Given the description of an element on the screen output the (x, y) to click on. 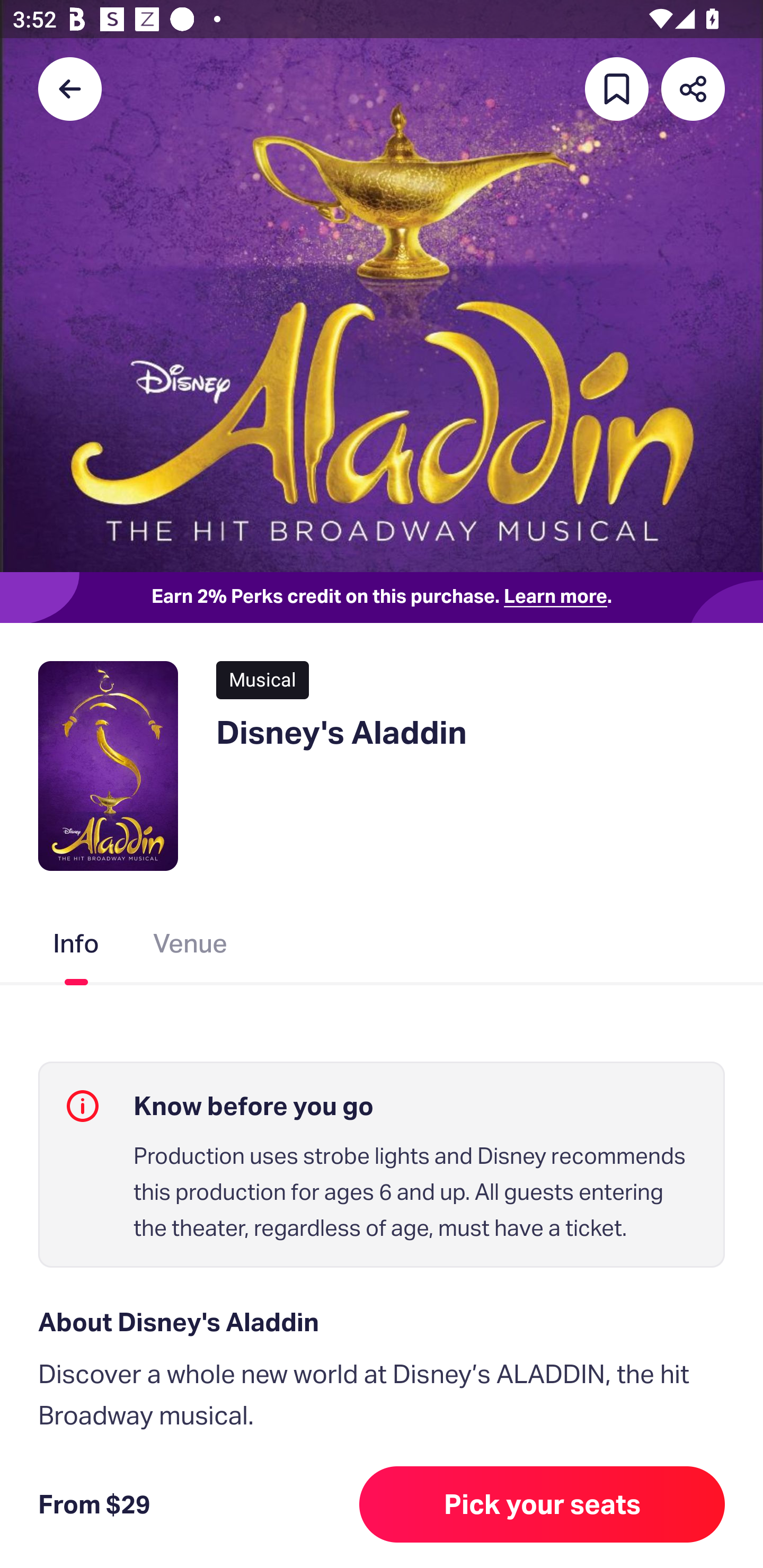
Earn 2% Perks credit on this purchase. Learn more. (381, 597)
Venue (190, 946)
About Disney's Aladdin (381, 1322)
Pick your seats (541, 1504)
